Given the description of an element on the screen output the (x, y) to click on. 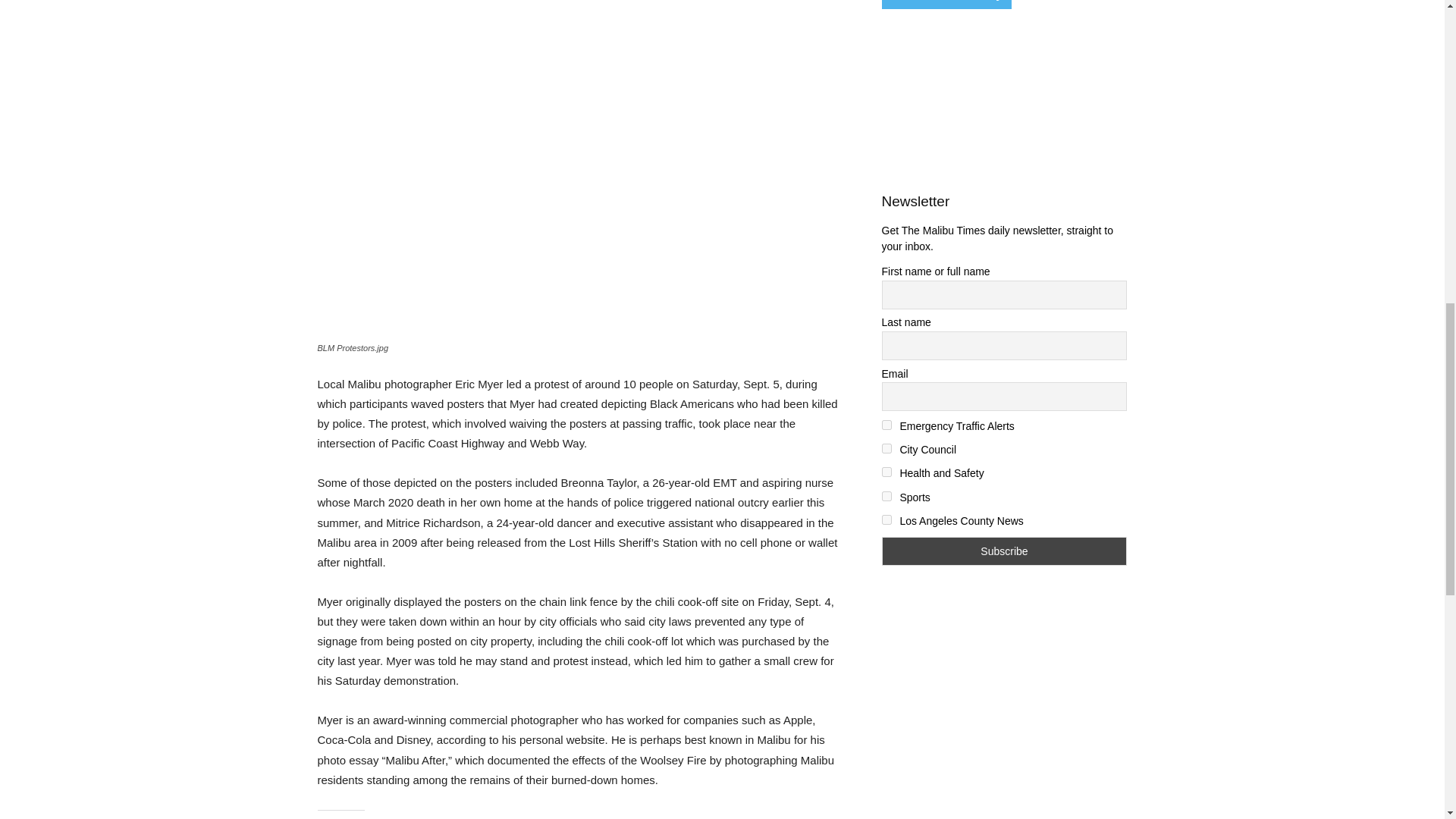
Subscribe (1003, 551)
6 (885, 519)
5 (885, 496)
4 (885, 471)
3 (885, 448)
2 (885, 424)
